Given the description of an element on the screen output the (x, y) to click on. 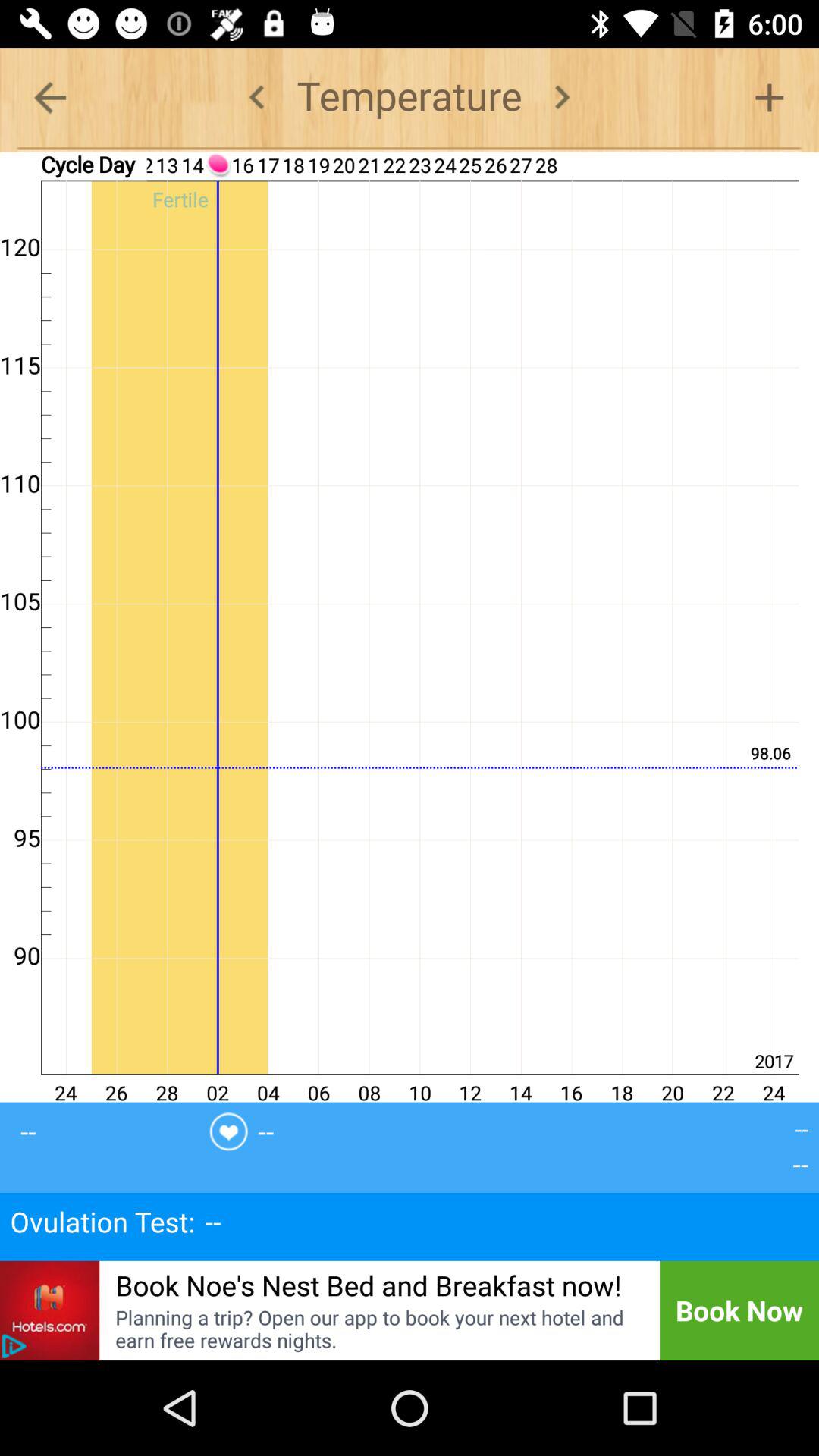
temperature chart (14, 1346)
